Given the description of an element on the screen output the (x, y) to click on. 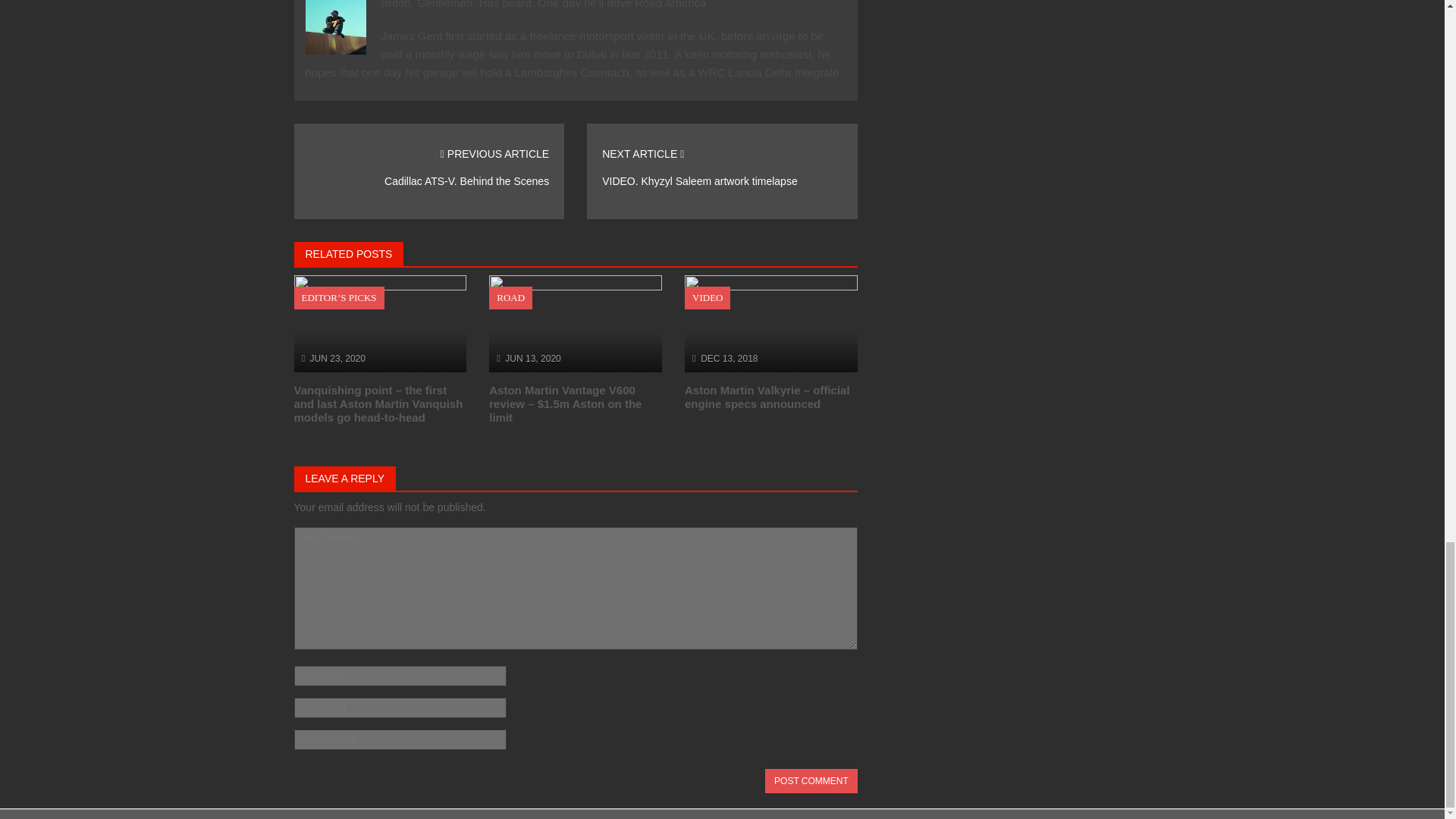
Post Comment (811, 781)
Thursday, December 13, 2018, 1:16 pm (728, 357)
Tuesday, June 23, 2020, 3:29 pm (337, 357)
Saturday, June 13, 2020, 4:24 pm (532, 357)
